Given the description of an element on the screen output the (x, y) to click on. 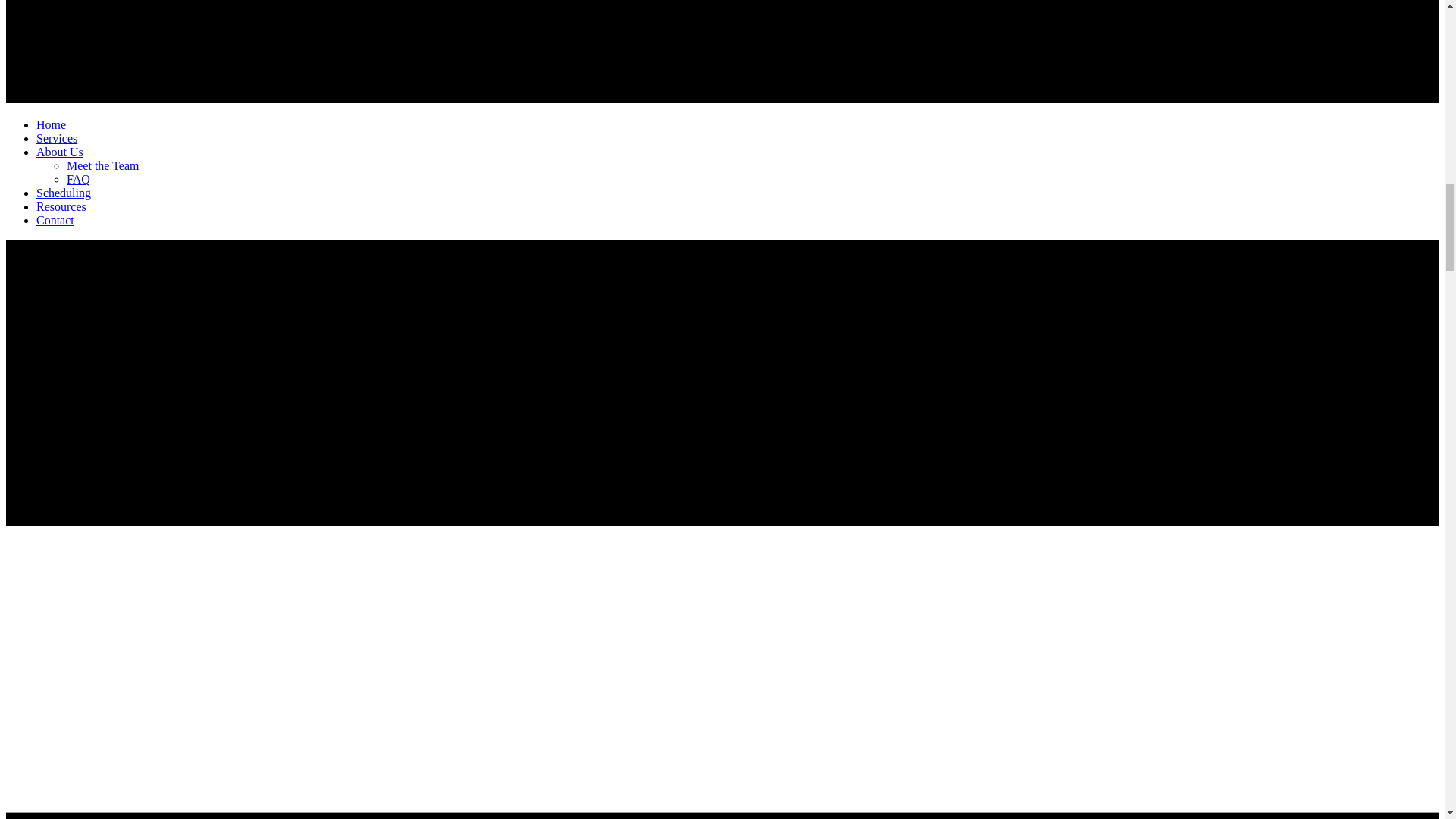
Meet the Team (102, 165)
Resources (60, 206)
Contact (55, 220)
Services (56, 138)
Home (50, 124)
About Us (59, 151)
Scheduling (63, 192)
FAQ (78, 179)
